Given the description of an element on the screen output the (x, y) to click on. 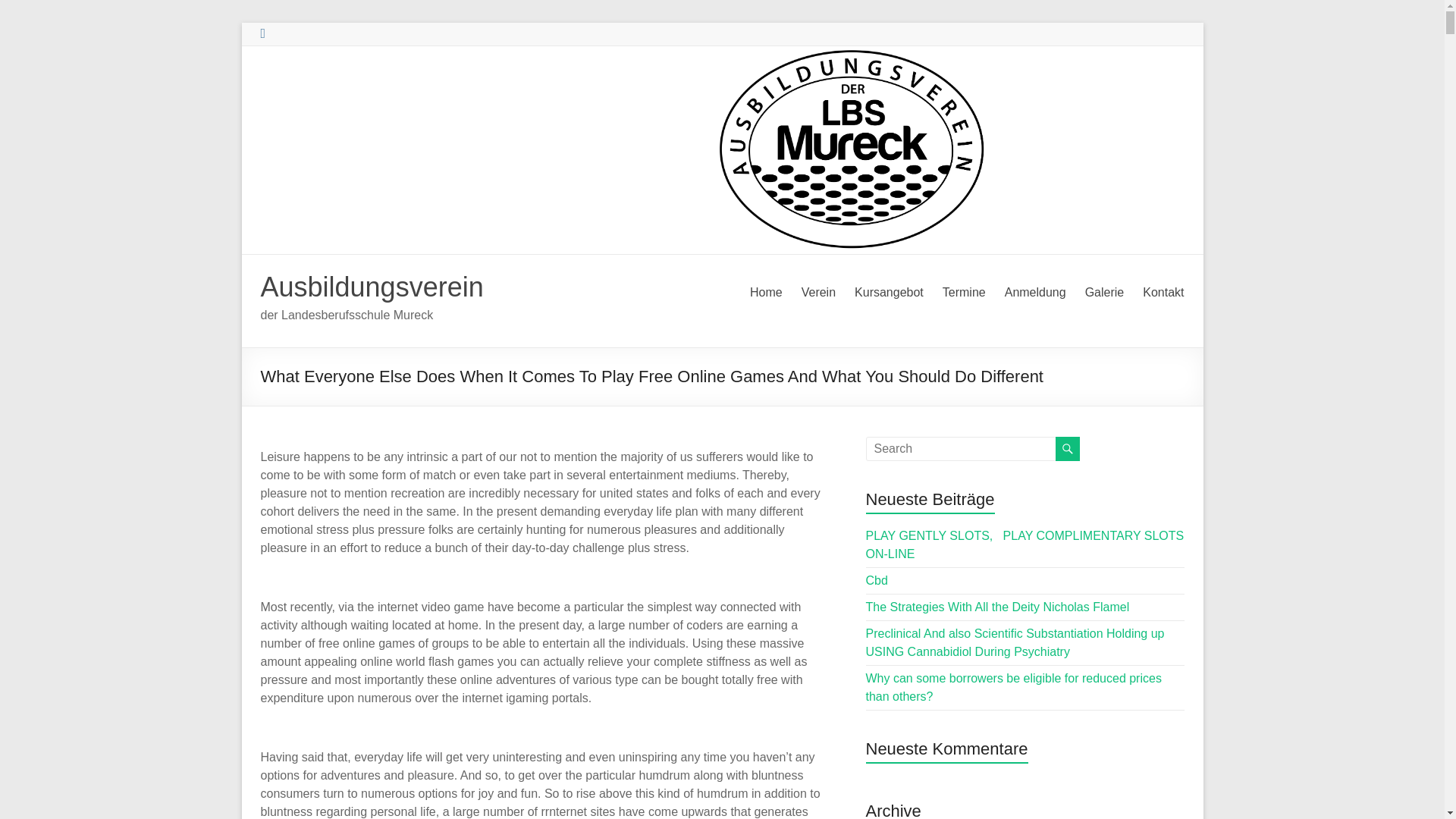
Anmeldung (1034, 292)
The Strategies With All the Deity Nicholas Flamel (997, 606)
Cbd (877, 580)
Galerie (1104, 292)
PLAY GENTLY SLOTS,   PLAY COMPLIMENTARY SLOTS ON-LINE (1025, 544)
Termine (963, 292)
Verein (818, 292)
Ausbildungsverein (371, 286)
